Given the description of an element on the screen output the (x, y) to click on. 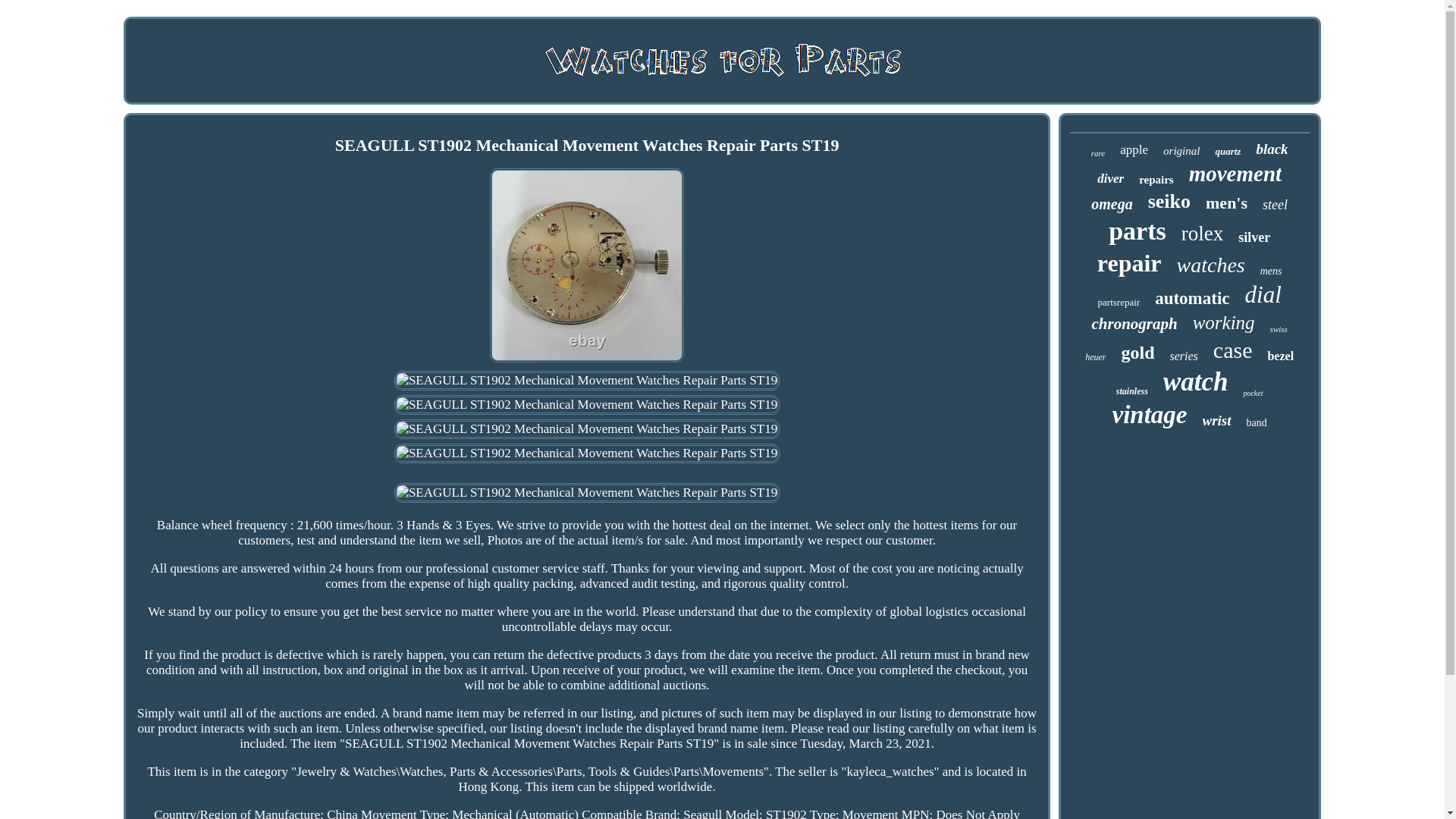
original (1181, 151)
rolex (1201, 233)
heuer (1094, 357)
seiko (1169, 201)
SEAGULL ST1902 Mechanical Movement Watches Repair Parts ST19 (586, 380)
silver (1254, 237)
repair (1129, 263)
steel (1274, 204)
partsrepair (1118, 302)
swiss (1278, 328)
mens (1271, 271)
omega (1111, 203)
movement (1235, 173)
quartz (1227, 151)
automatic (1191, 298)
